Given the description of an element on the screen output the (x, y) to click on. 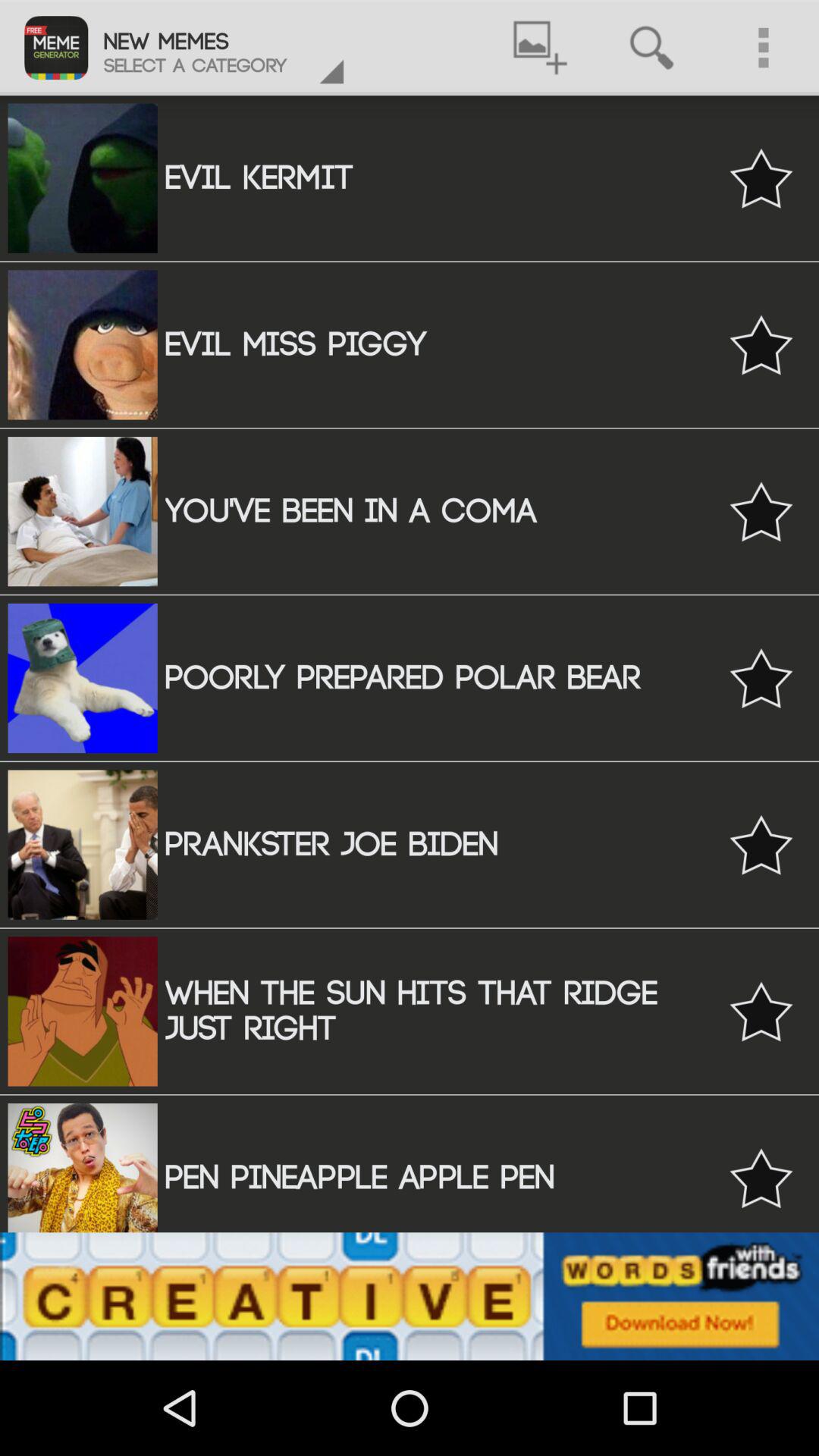
add to favorite (761, 1011)
